Given the description of an element on the screen output the (x, y) to click on. 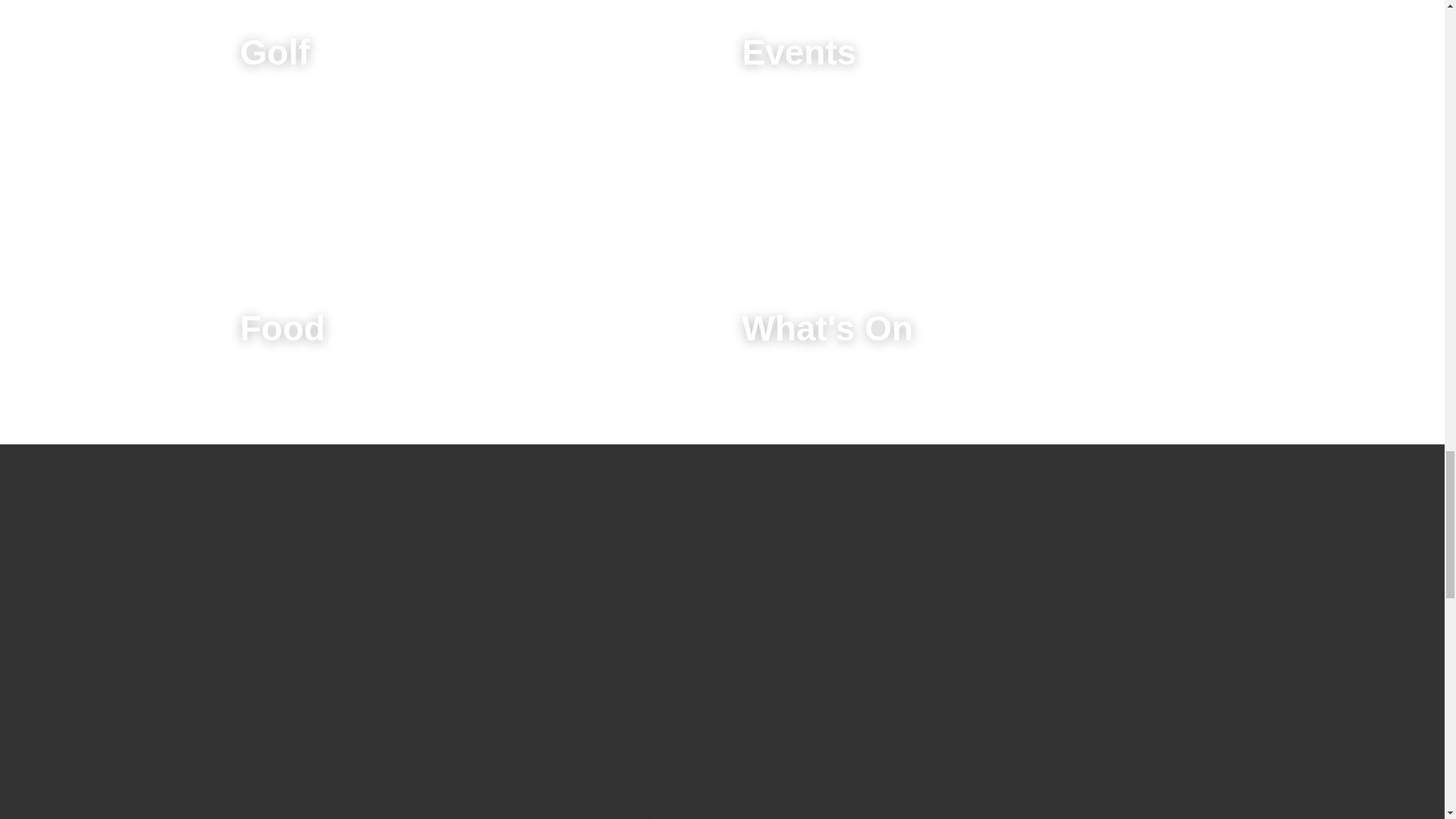
Events (956, 46)
Golf (486, 46)
